Given the description of an element on the screen output the (x, y) to click on. 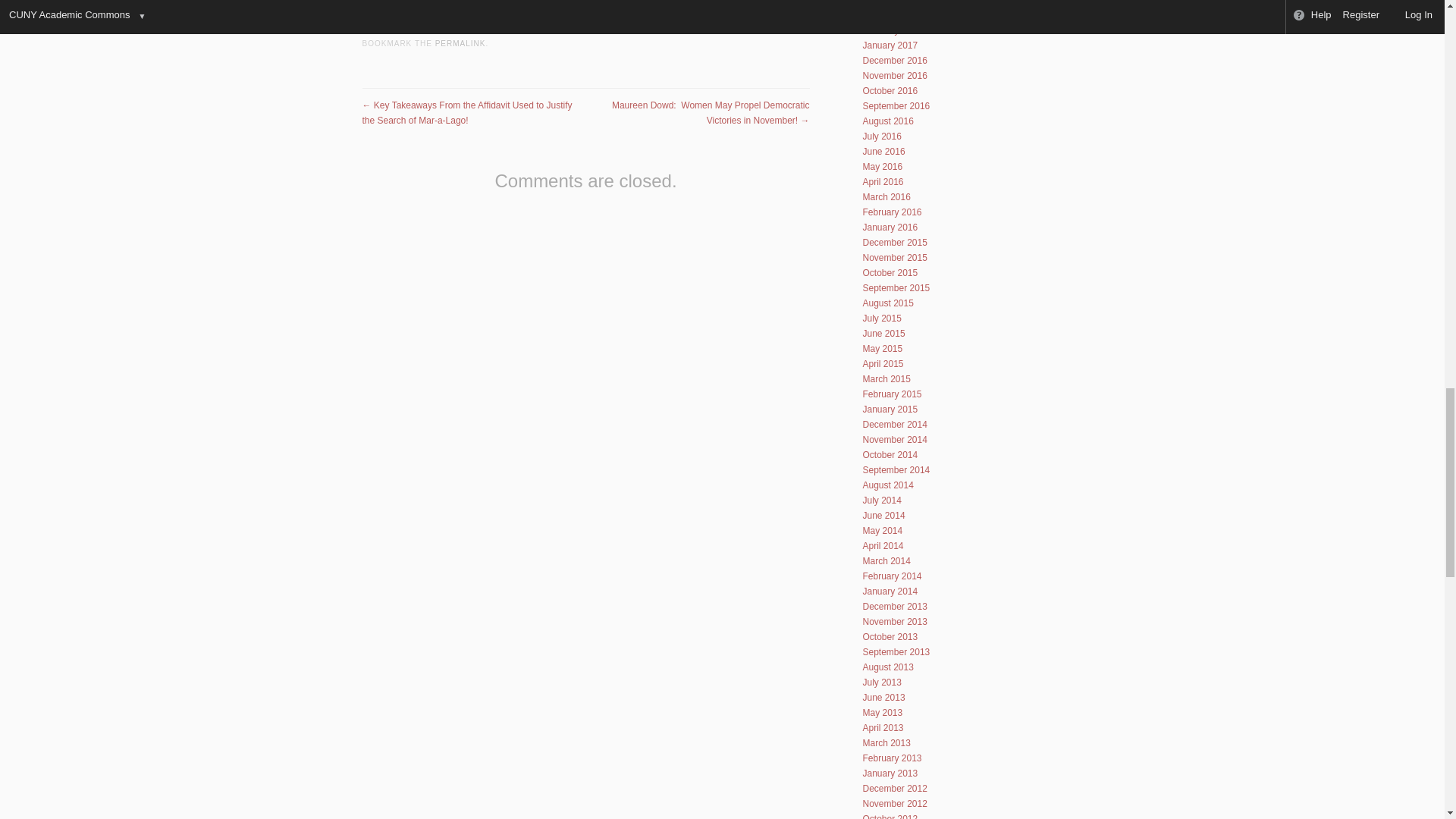
ATTRIBUTION-NONCOMMERCIAL-SHAREALIKE 4.0 INTERNATIONAL (558, 4)
PERMALINK (460, 43)
